Given the description of an element on the screen output the (x, y) to click on. 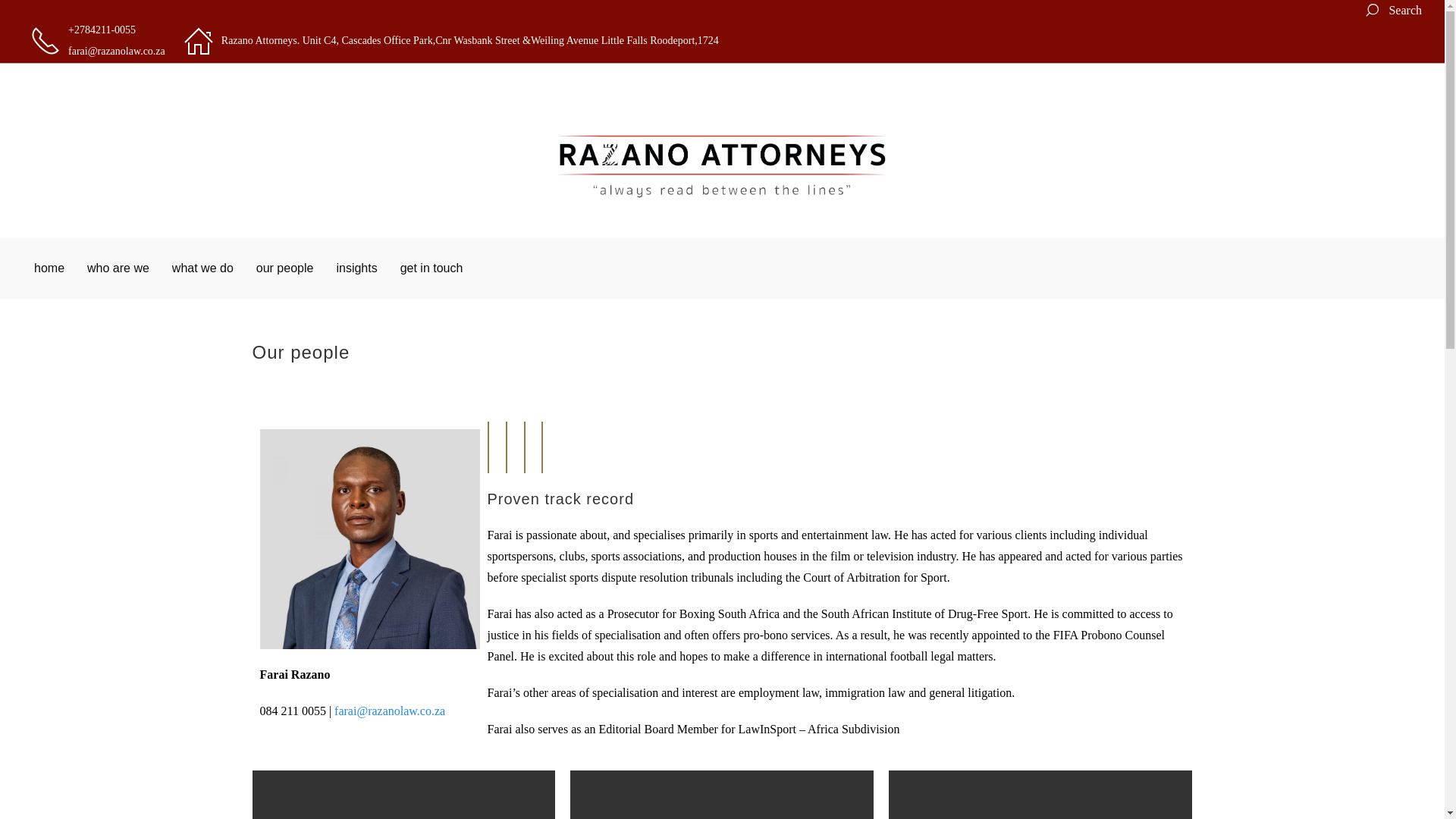
Our people (721, 359)
who are we (118, 268)
Search (1392, 10)
get in touch (431, 268)
our people (285, 268)
what we do (201, 268)
